Given the description of an element on the screen output the (x, y) to click on. 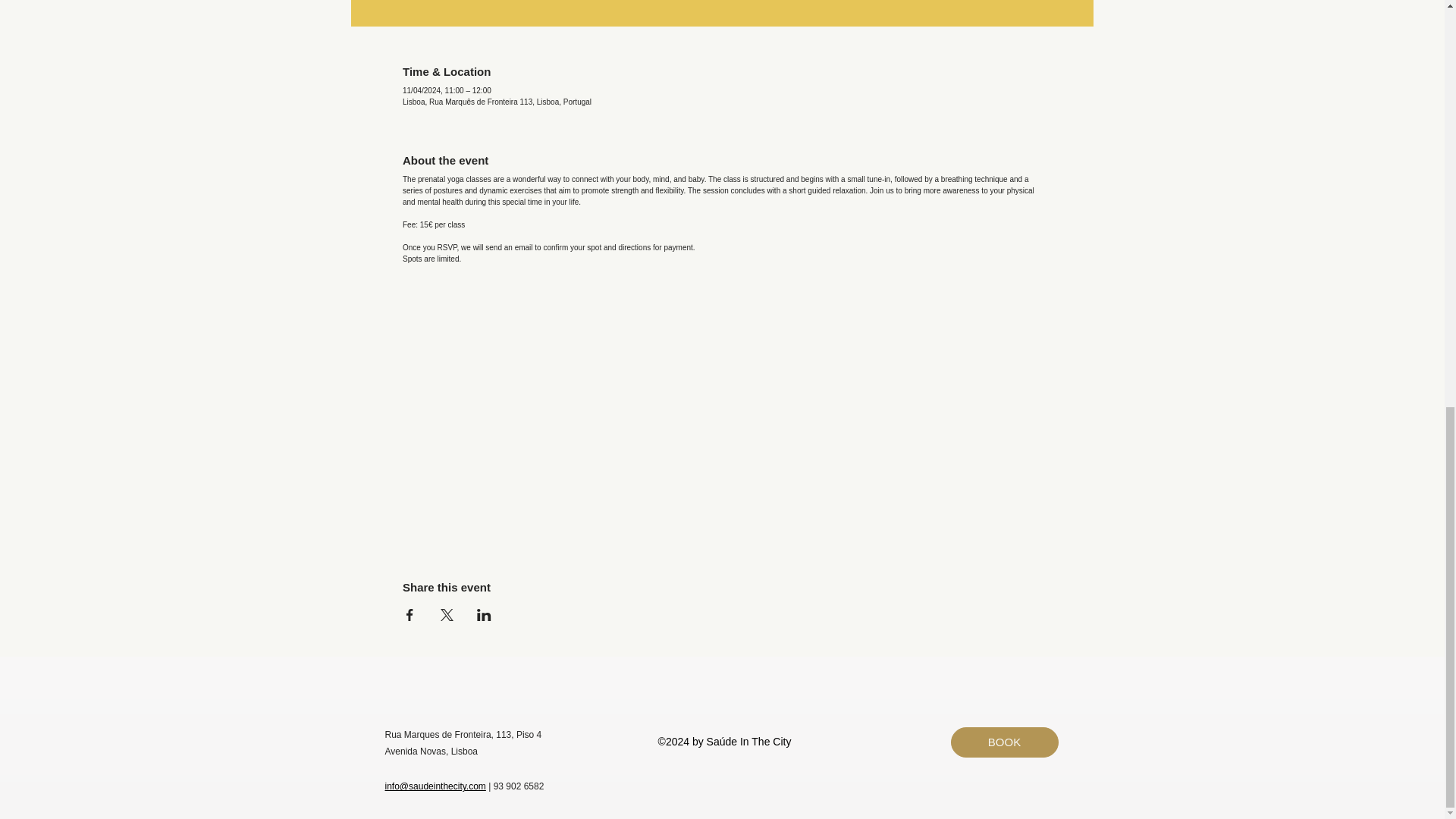
BOOK (1004, 742)
